Given the description of an element on the screen output the (x, y) to click on. 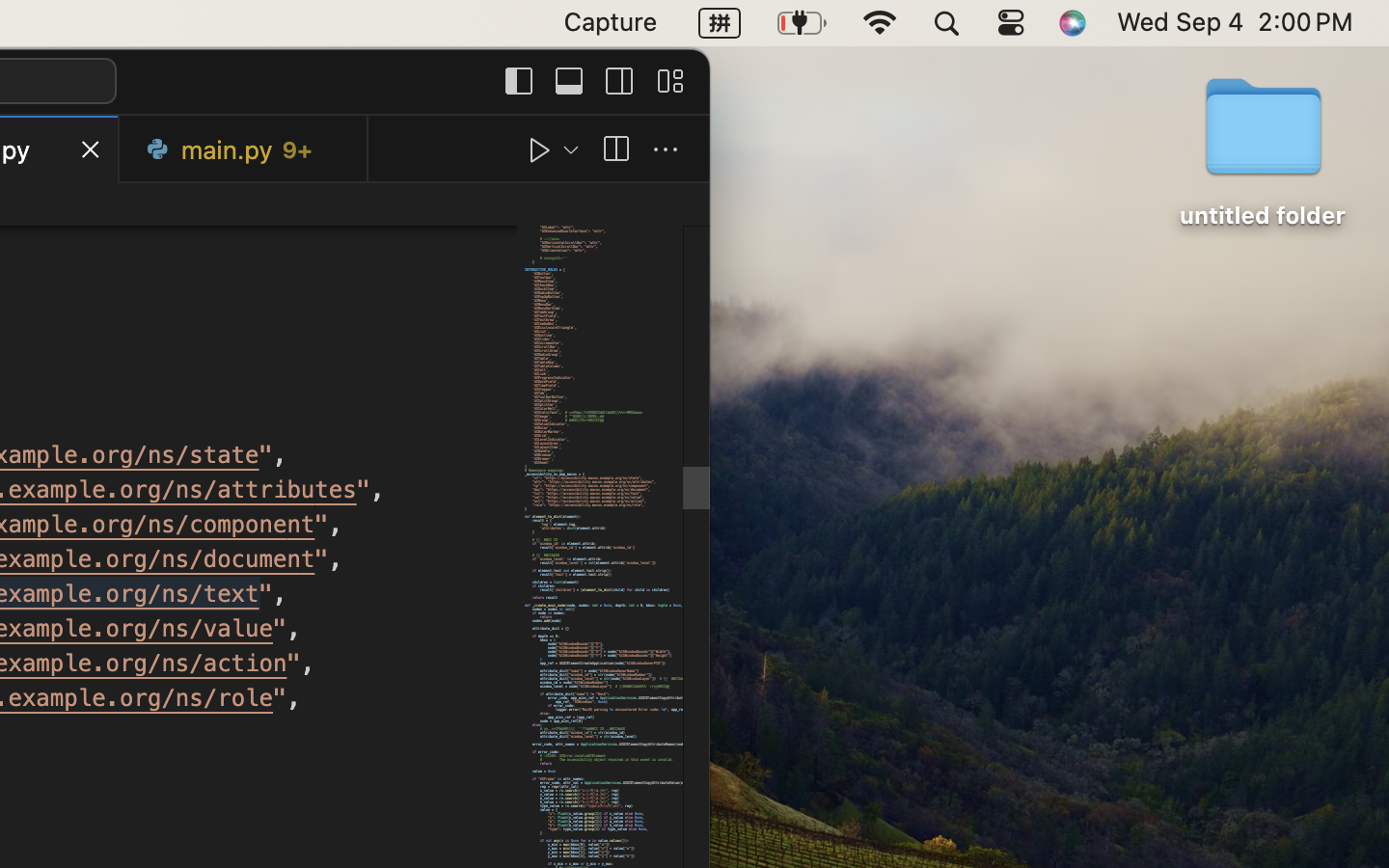
0 main.py   9+ Element type: AXRadioButton (243, 149)
 Element type: AXCheckBox (619, 80)
 Element type: AXButton (669, 80)
 Element type: AXButton (615, 150)
 Element type: AXStaticText (665, 150)
